Given the description of an element on the screen output the (x, y) to click on. 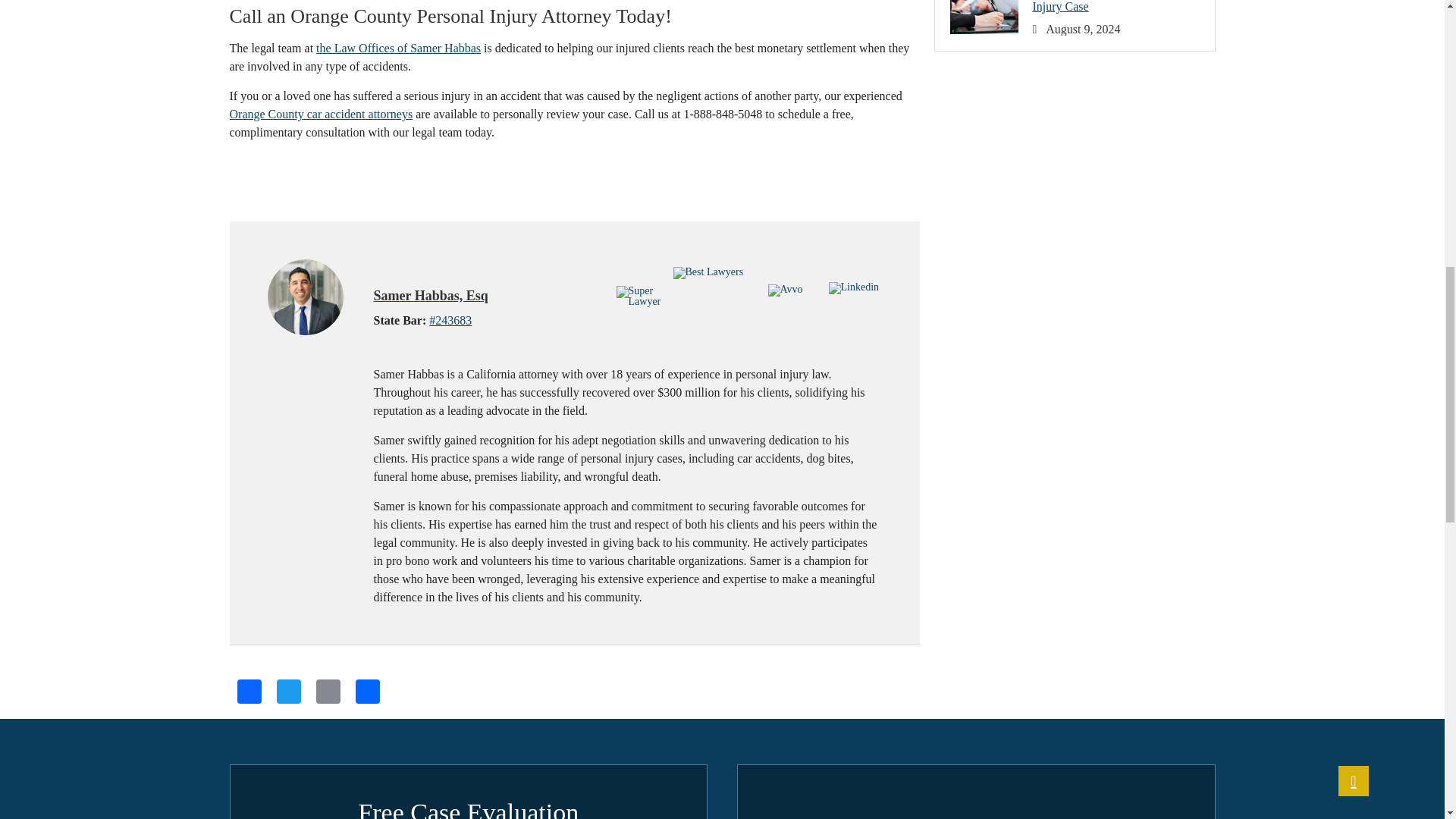
Email (327, 693)
Twitter (287, 693)
Facebook (247, 693)
